Given the description of an element on the screen output the (x, y) to click on. 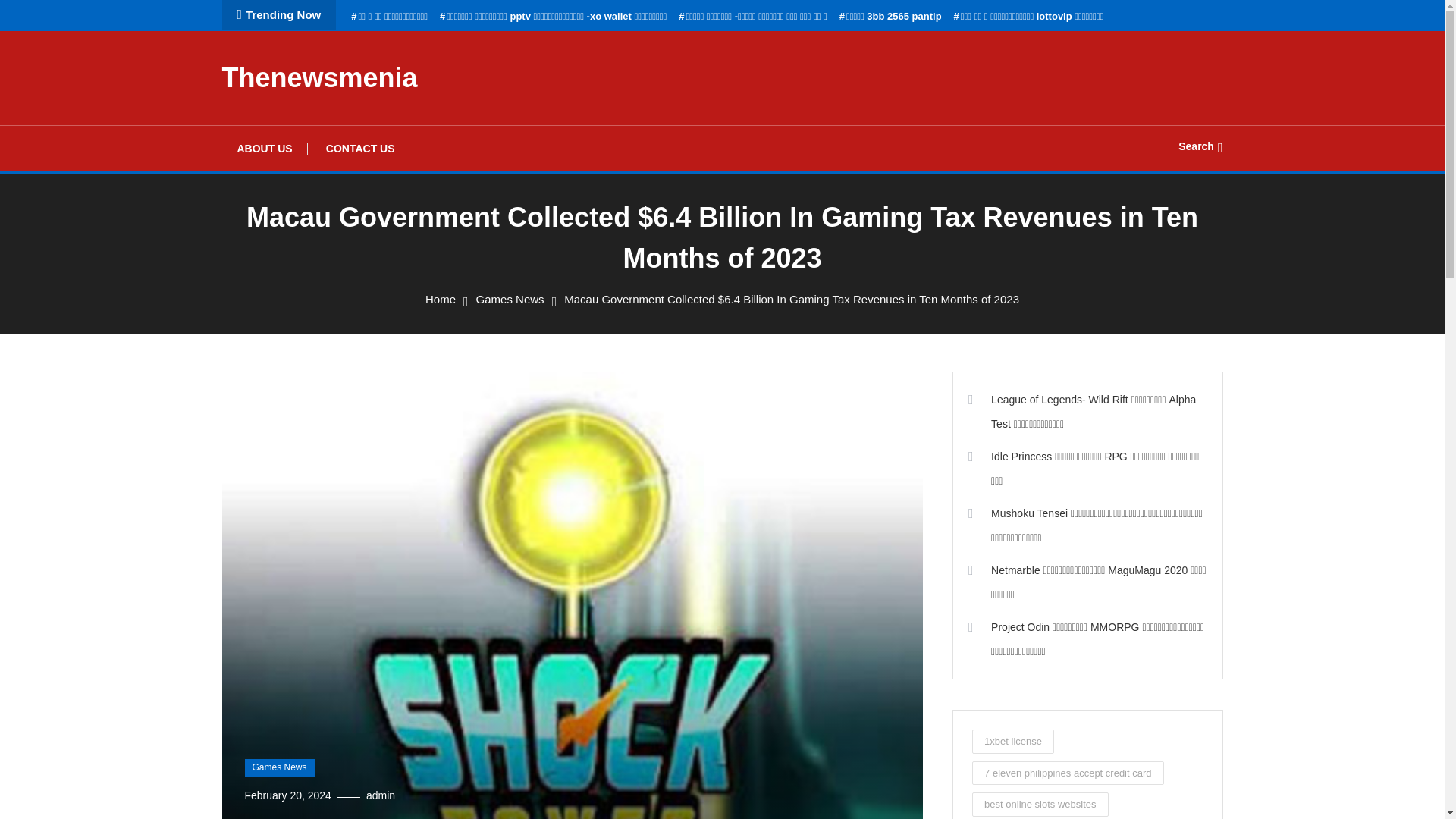
Search (1200, 146)
admin (380, 795)
Games News (279, 768)
ABOUT US (264, 148)
Thenewsmenia (318, 77)
CONTACT US (360, 148)
February 20, 2024 (287, 795)
Home (440, 298)
Search (768, 434)
Games News (510, 298)
